Given the description of an element on the screen output the (x, y) to click on. 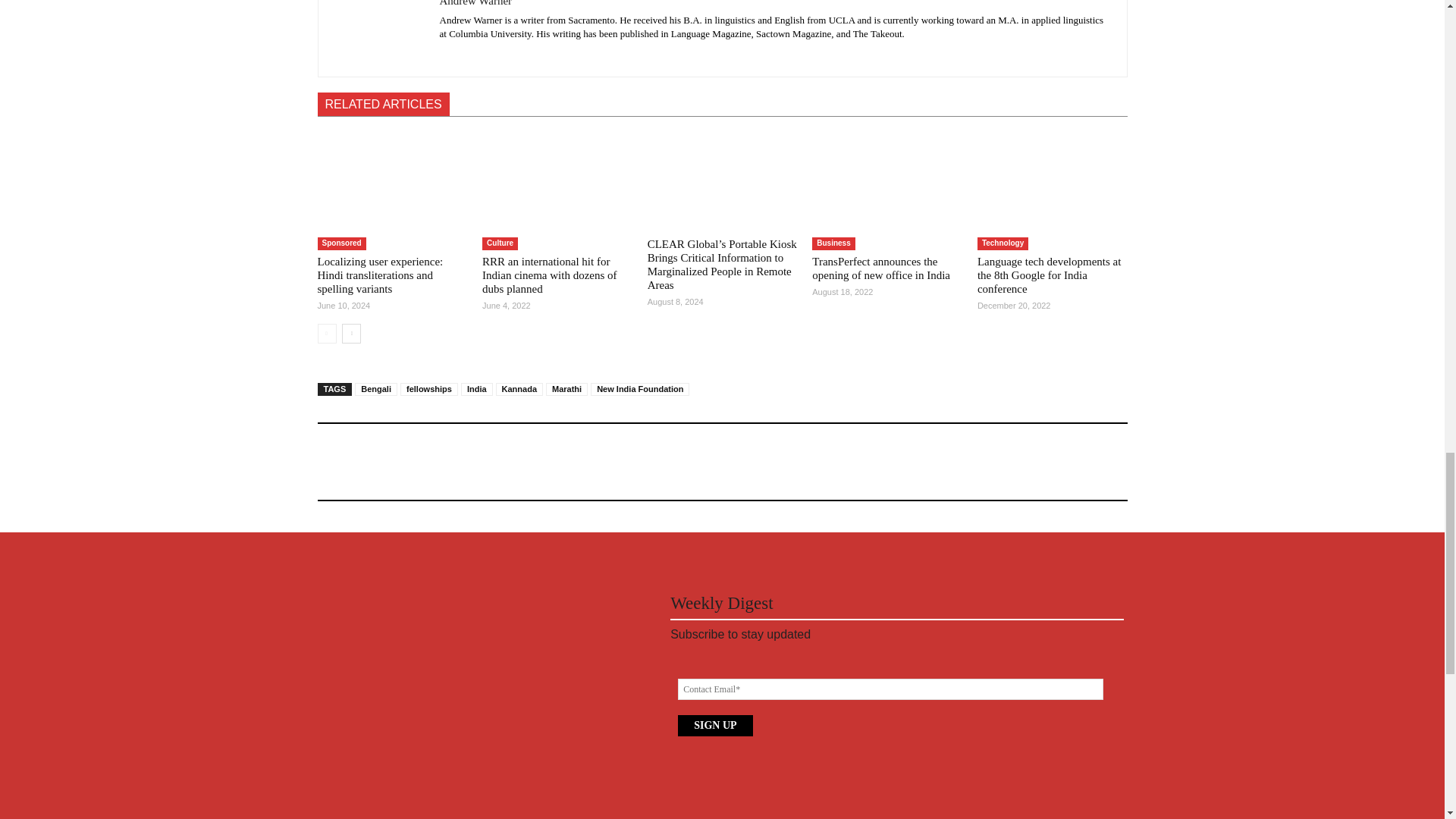
SIGN UP (715, 725)
